Given the description of an element on the screen output the (x, y) to click on. 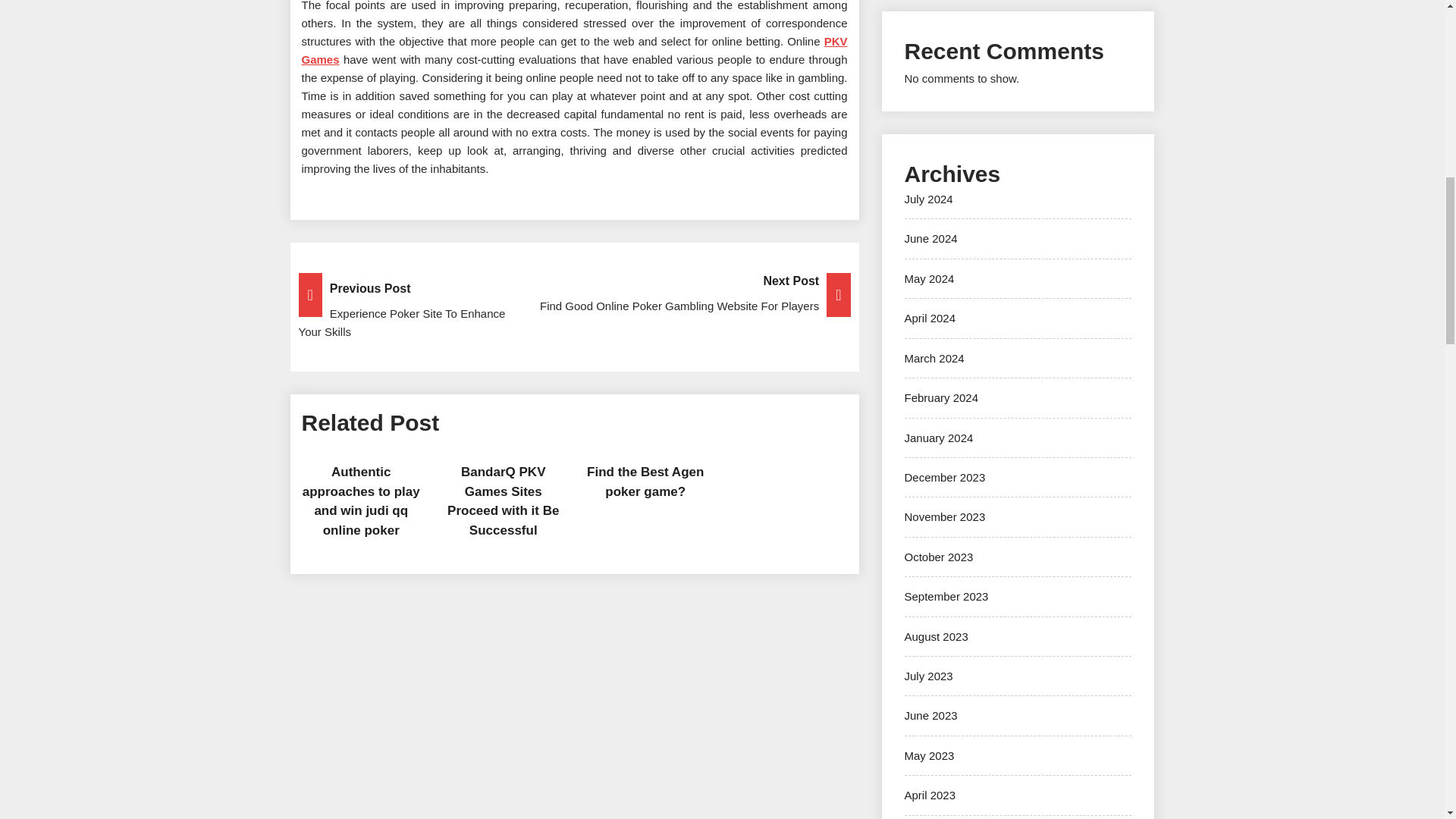
PKV Games (574, 50)
January 2024 (938, 436)
June 2024 (930, 237)
BandarQ PKV Games Sites Proceed with it Be Successful (502, 501)
April 2024 (929, 318)
February 2024 (941, 397)
Find the Best Agen poker game? (644, 481)
July 2024 (928, 198)
March 2024 (933, 358)
Authentic approaches to play and win judi qq online poker (361, 501)
May 2024 (928, 278)
